Given the description of an element on the screen output the (x, y) to click on. 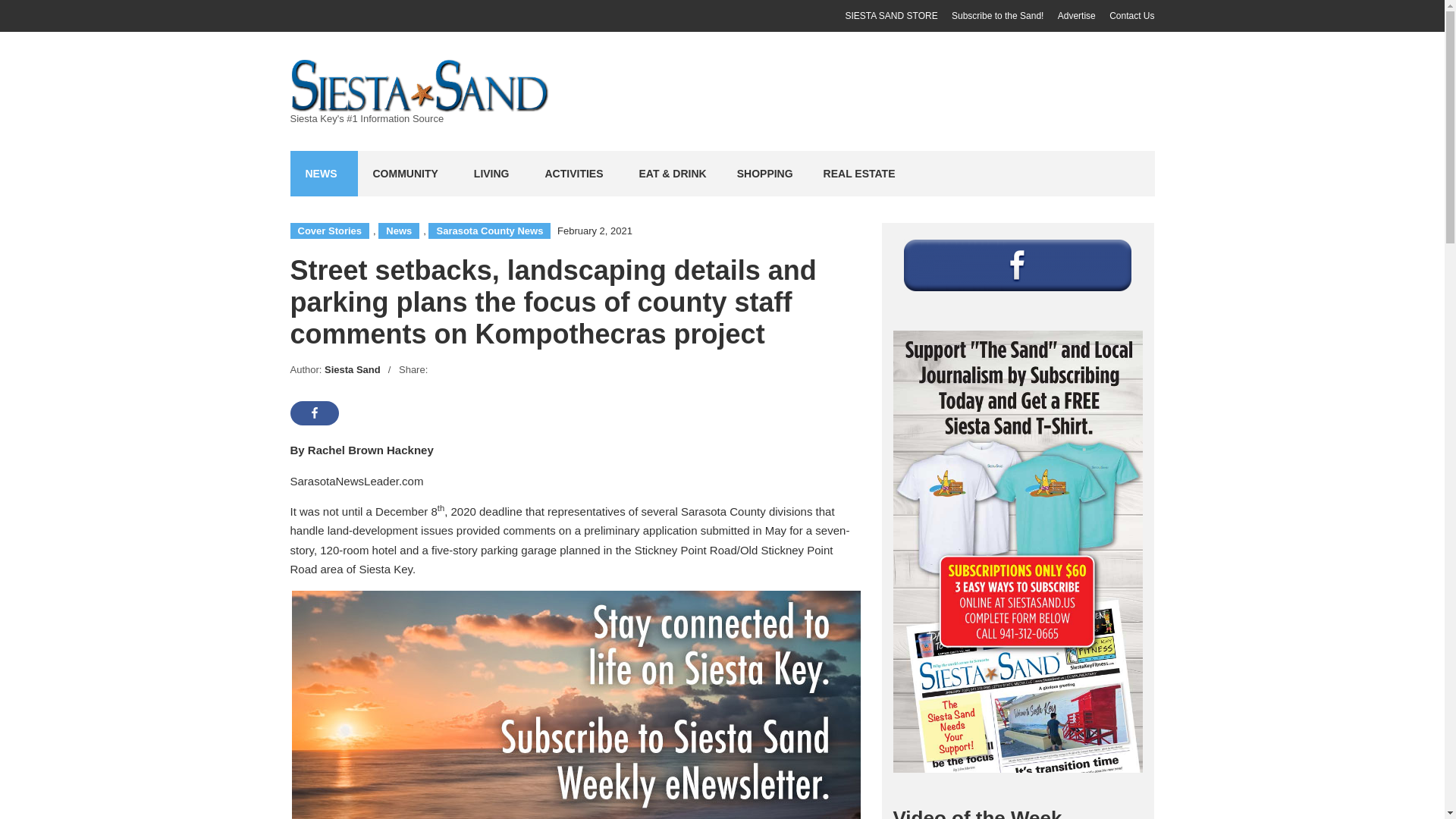
Share on Facebook (313, 413)
Posts by Siesta Sand (352, 369)
